Given the description of an element on the screen output the (x, y) to click on. 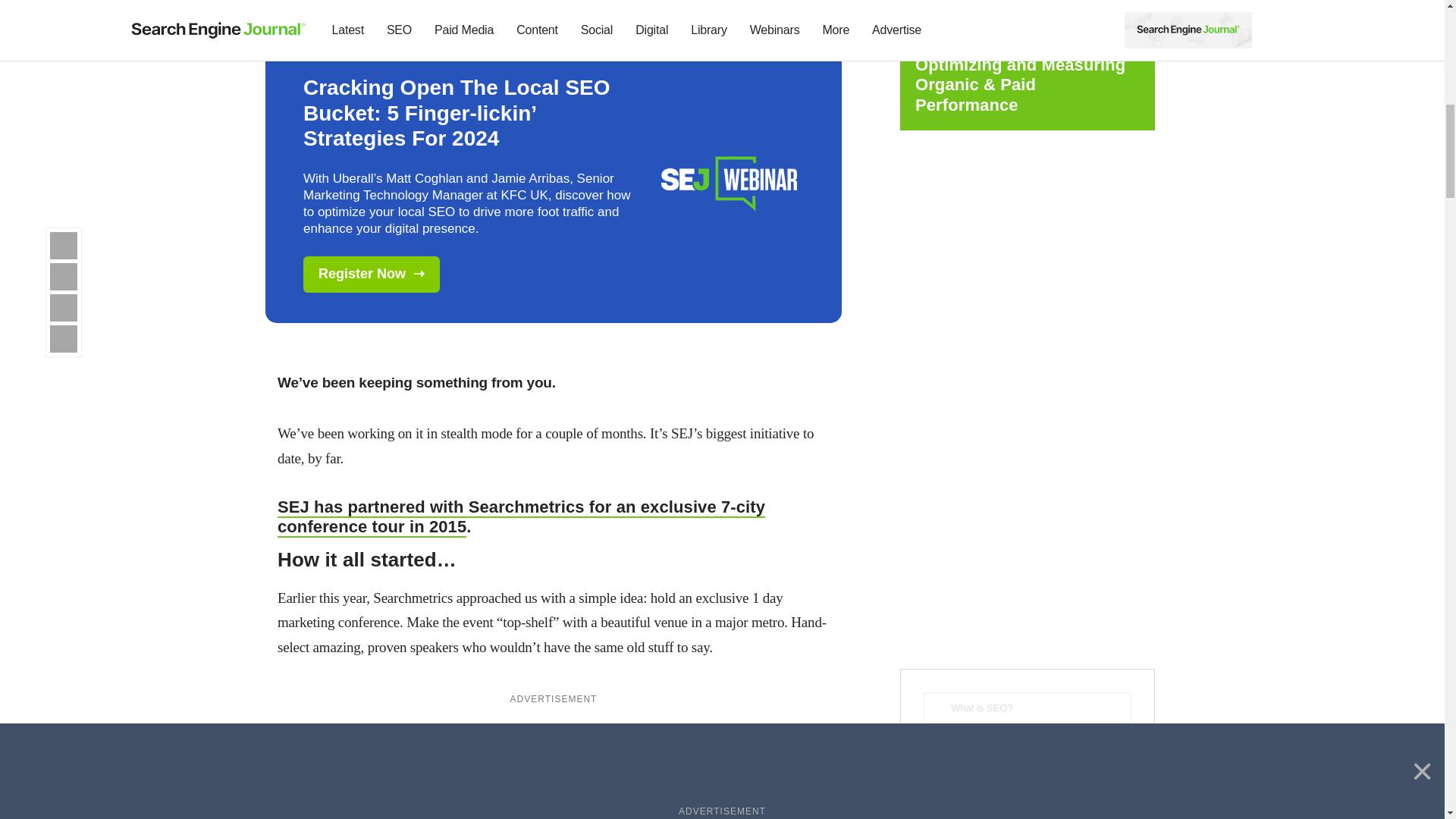
SEARCH (1027, 753)
SEARCH (1027, 753)
